Given the description of an element on the screen output the (x, y) to click on. 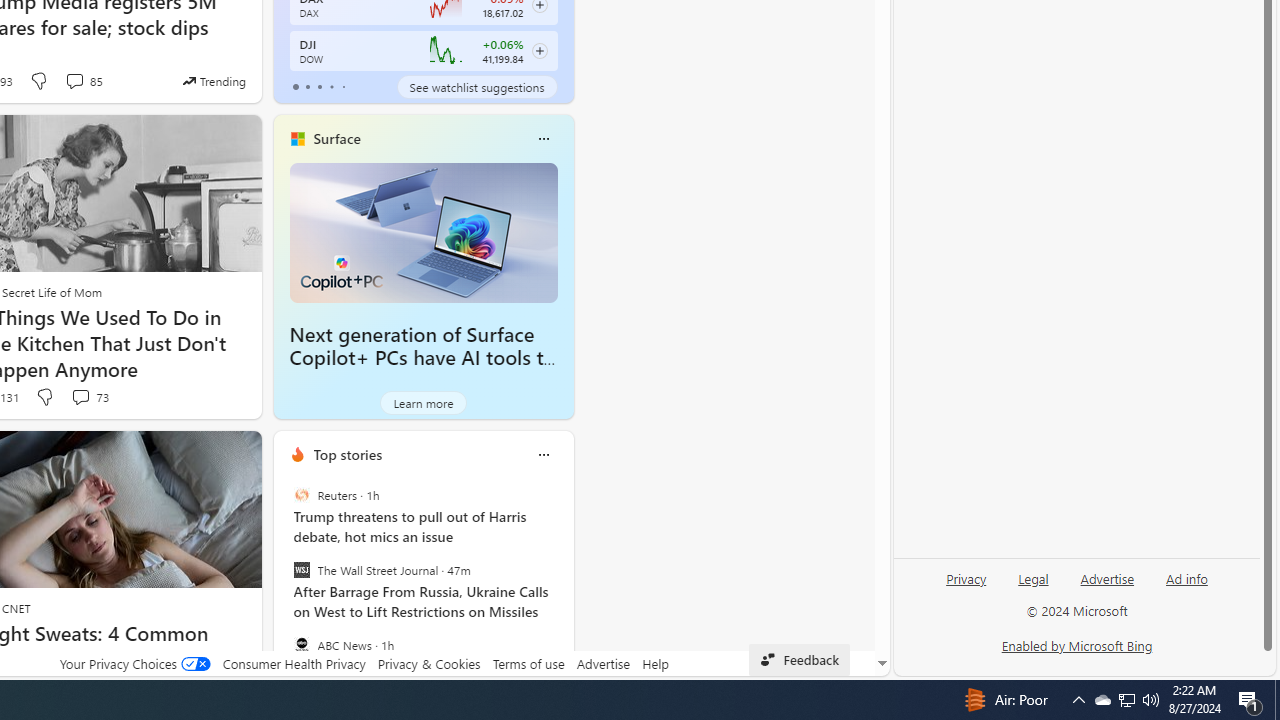
Reuters (301, 494)
View comments 85 Comment (74, 80)
previous (283, 583)
See watchlist suggestions (476, 86)
This story is trending (214, 80)
Top stories (347, 454)
tab-0 (295, 86)
Class: follow-button  m (539, 51)
Surface (336, 139)
